Given the description of an element on the screen output the (x, y) to click on. 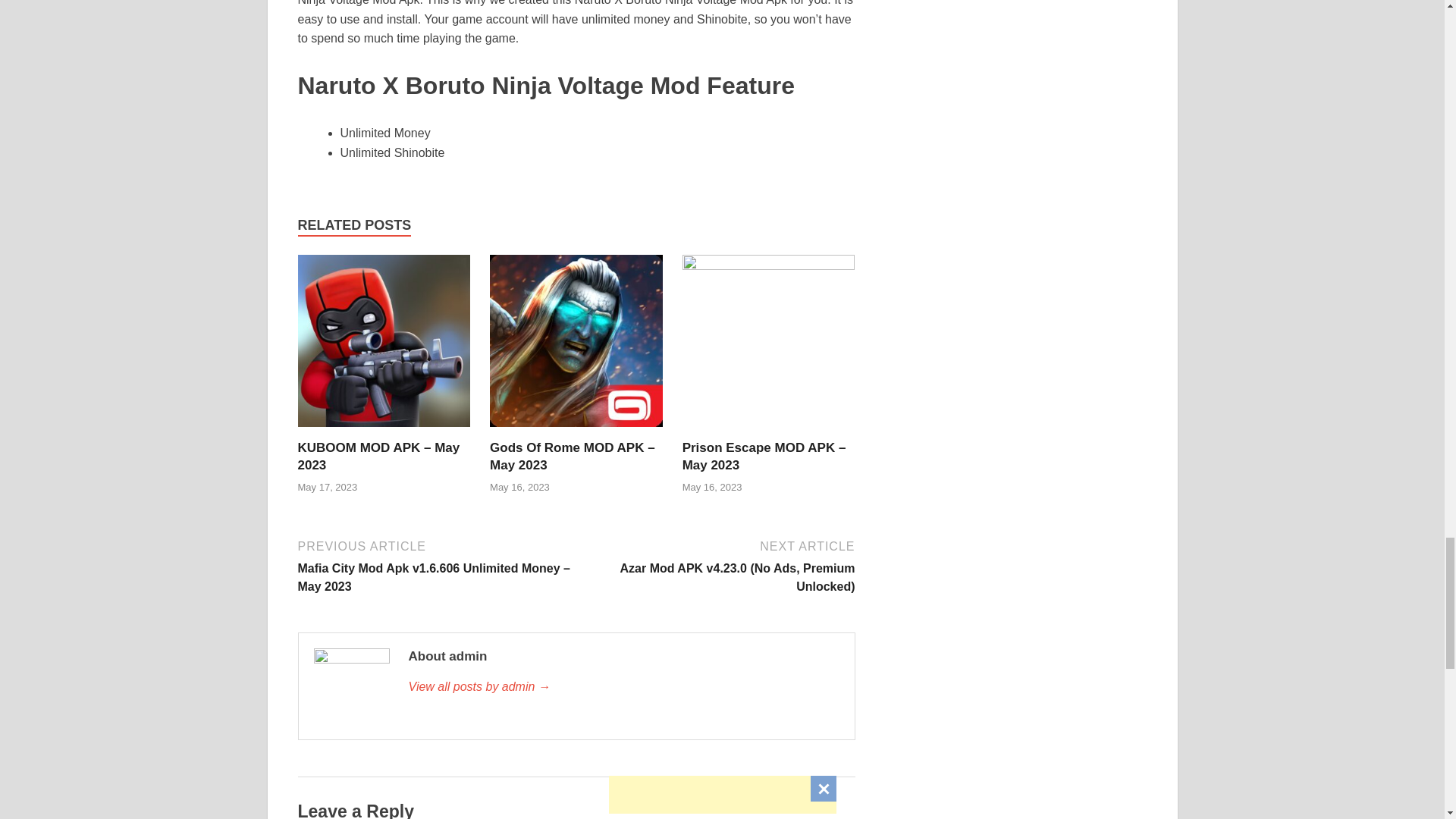
admin (622, 687)
